Given the description of an element on the screen output the (x, y) to click on. 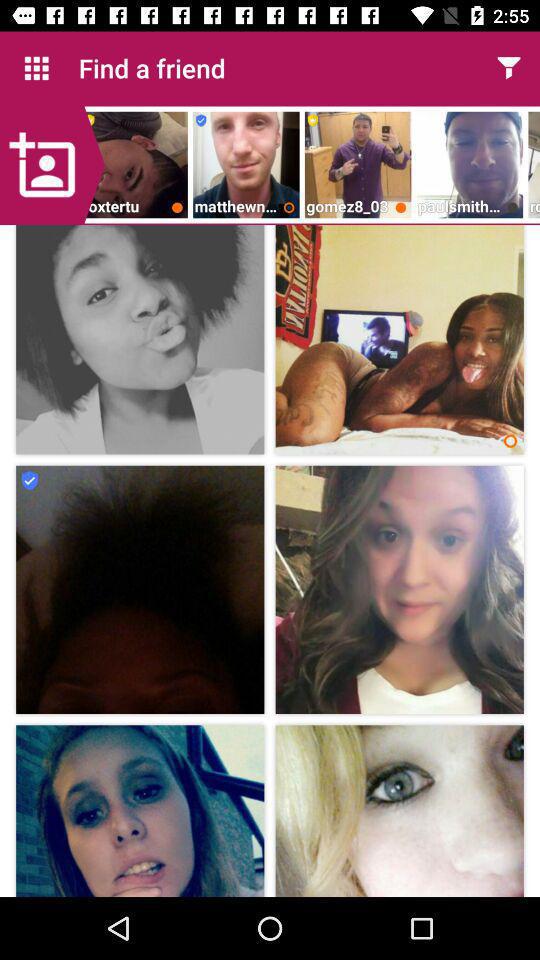
turn on the item next to the find a friend icon (36, 68)
